Given the description of an element on the screen output the (x, y) to click on. 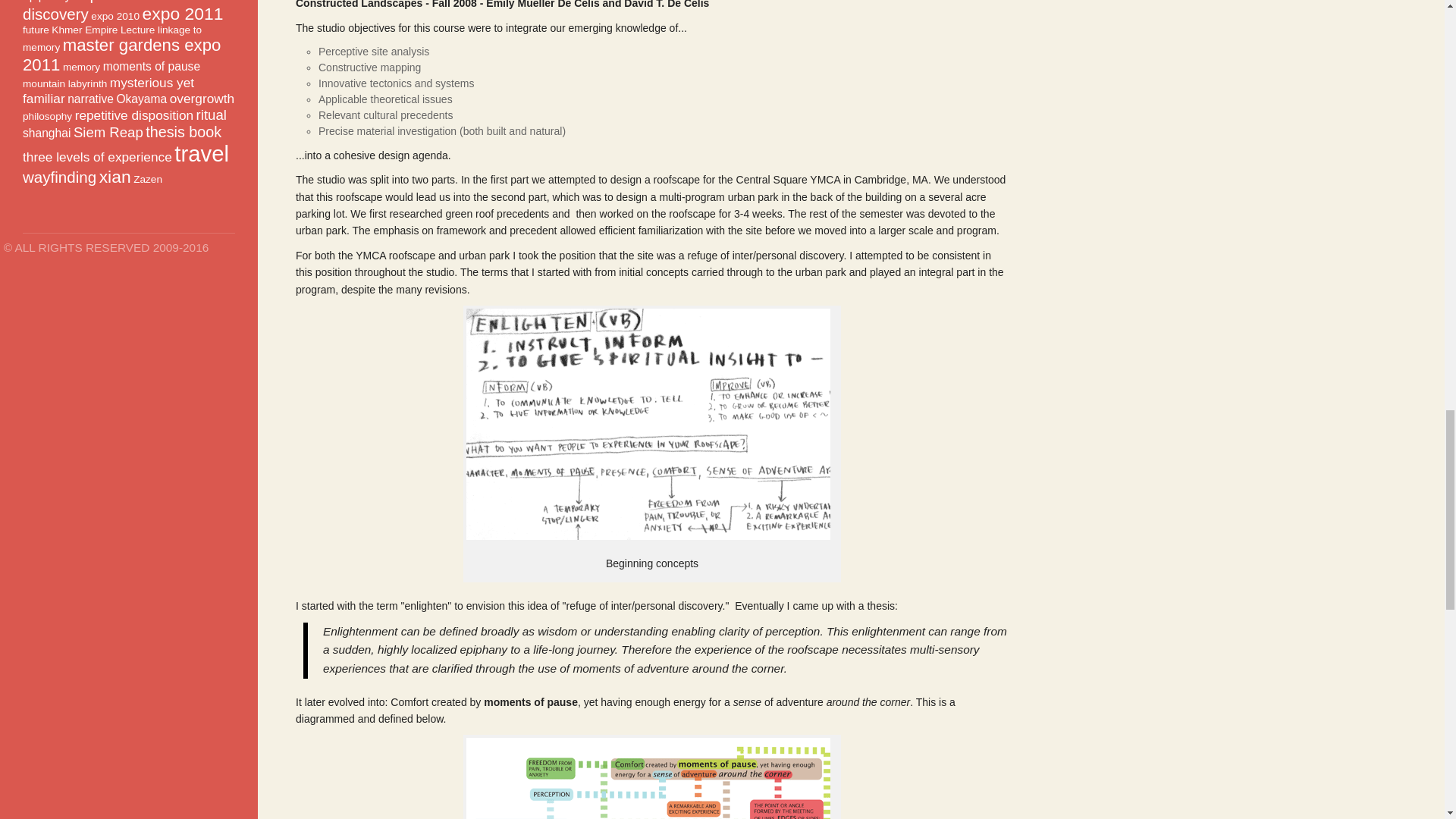
Conceptual Diagram Constucted Landscapes Fall 2008 (647, 778)
enlighten-terms (647, 423)
